Given the description of an element on the screen output the (x, y) to click on. 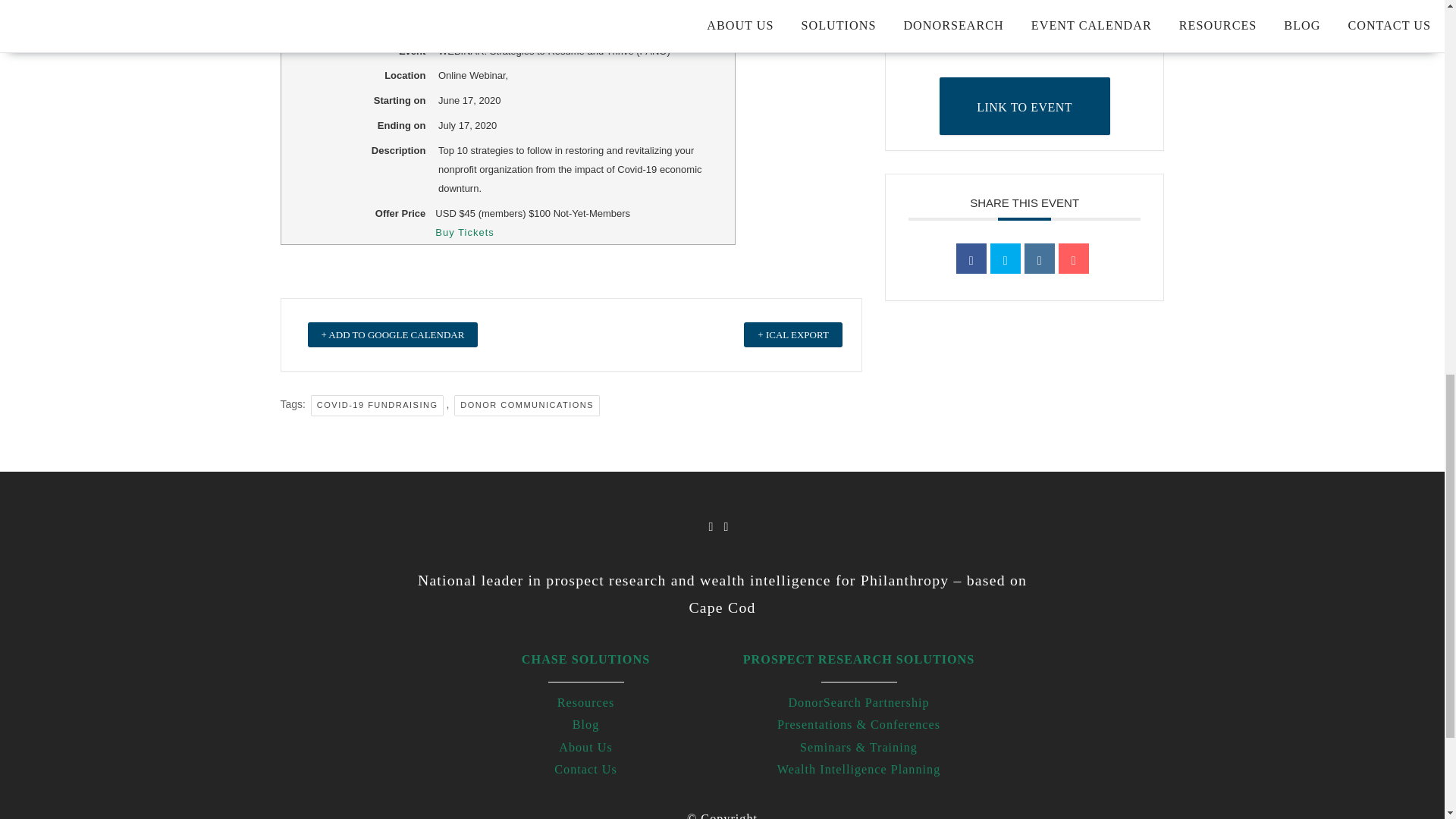
CHASE SOLUTIONS (585, 659)
About Us (585, 747)
Share on Facebook (971, 258)
DonorSearch Partnership (857, 703)
LINK TO EVENT (1024, 105)
Linkedin (1039, 258)
Tweet (1005, 258)
Contact Us (584, 769)
Resources (585, 703)
Buy Tickets (464, 232)
